Given the description of an element on the screen output the (x, y) to click on. 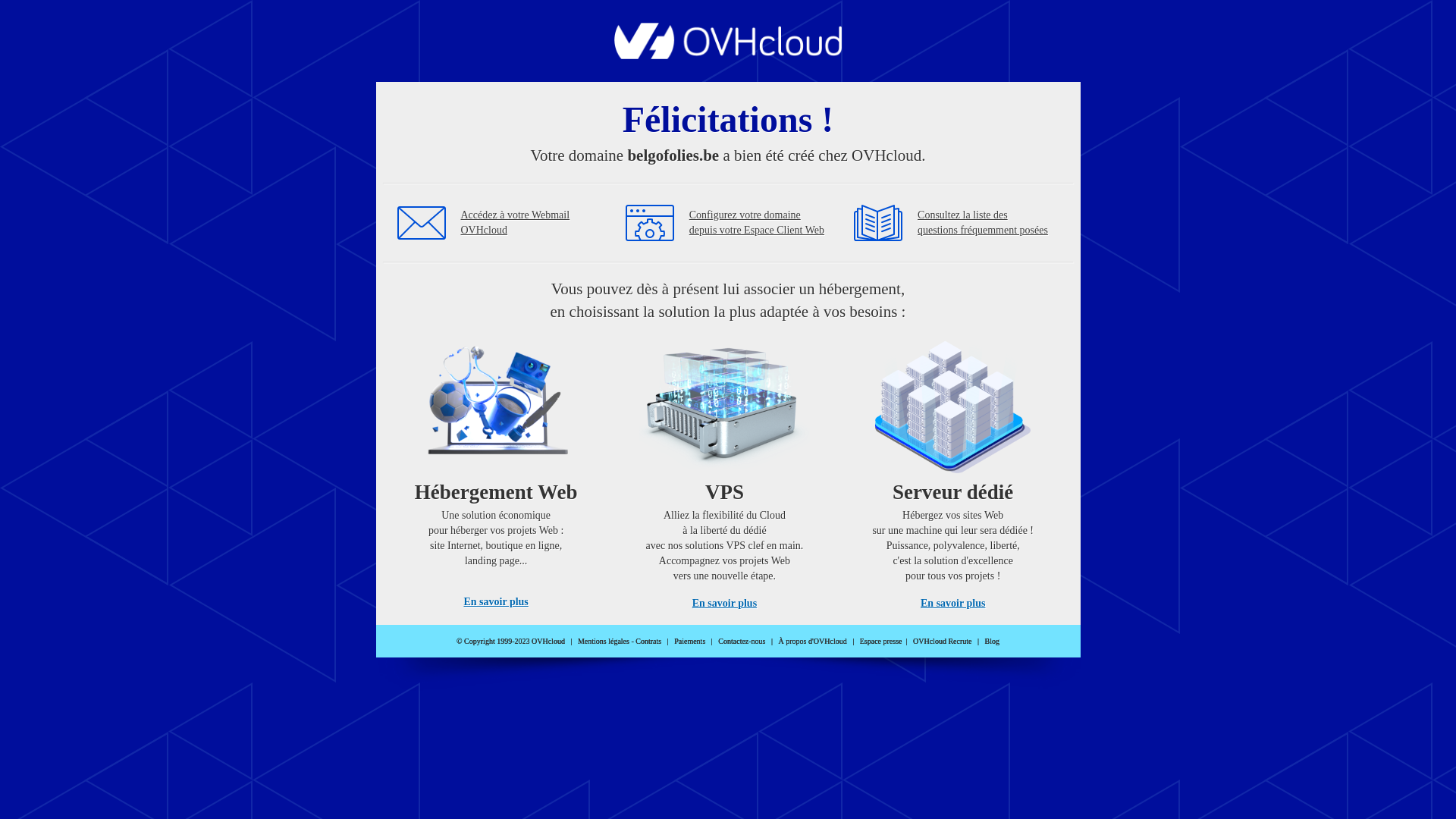
En savoir plus Element type: text (724, 602)
En savoir plus Element type: text (495, 601)
En savoir plus Element type: text (952, 602)
Paiements Element type: text (689, 641)
Configurez votre domaine
depuis votre Espace Client Web Element type: text (756, 222)
OVHcloud Recrute Element type: text (942, 641)
Contactez-nous Element type: text (741, 641)
Espace presse Element type: text (880, 641)
VPS Element type: hover (724, 469)
OVHcloud Element type: hover (727, 54)
Blog Element type: text (992, 641)
